Given the description of an element on the screen output the (x, y) to click on. 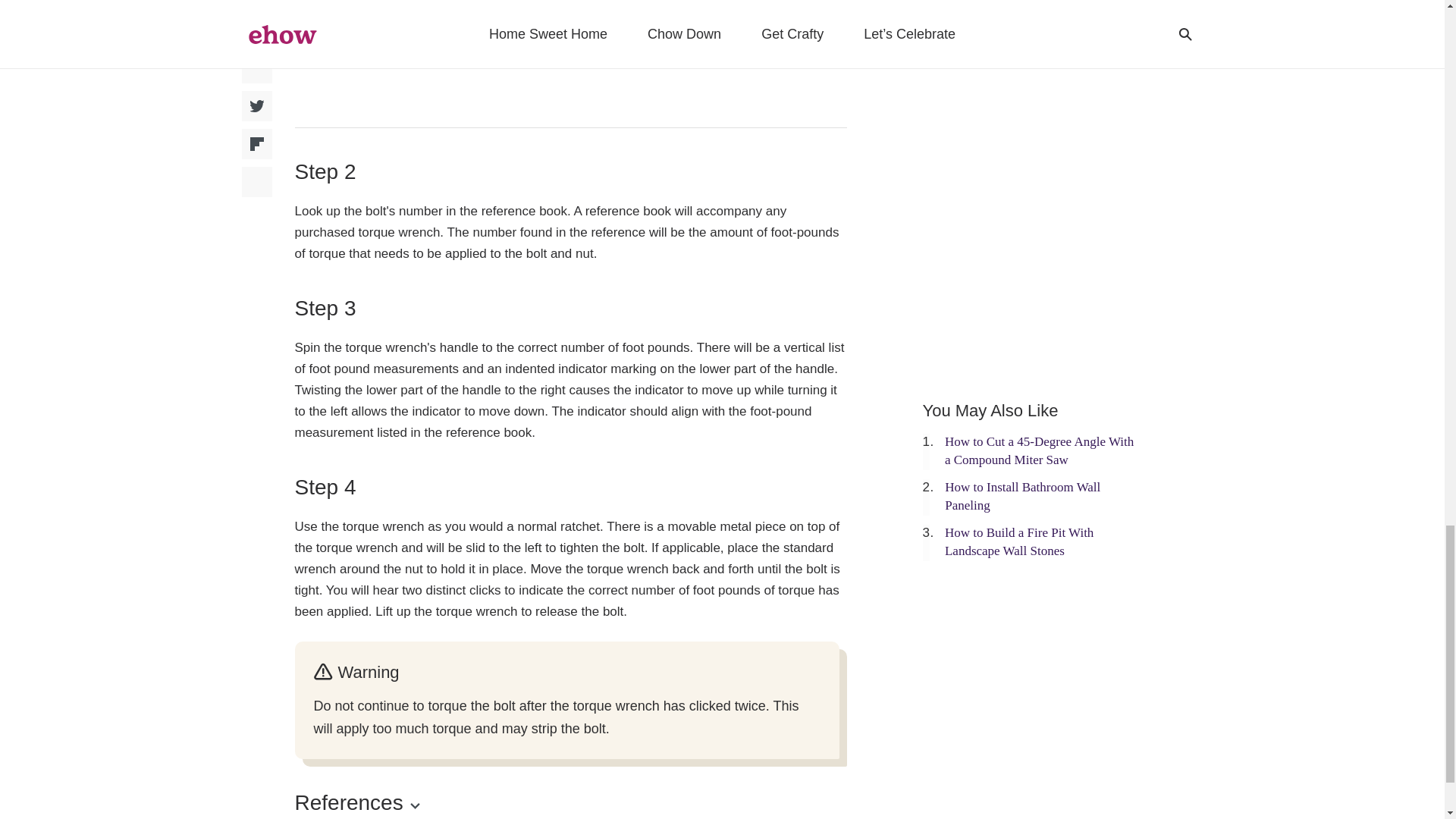
How to Build a Fire Pit With Landscape Wall Stones (1018, 541)
How to Install Bathroom Wall Paneling (1022, 495)
How to Cut a 45-Degree Angle With a Compound Miter Saw (1039, 450)
